Given the description of an element on the screen output the (x, y) to click on. 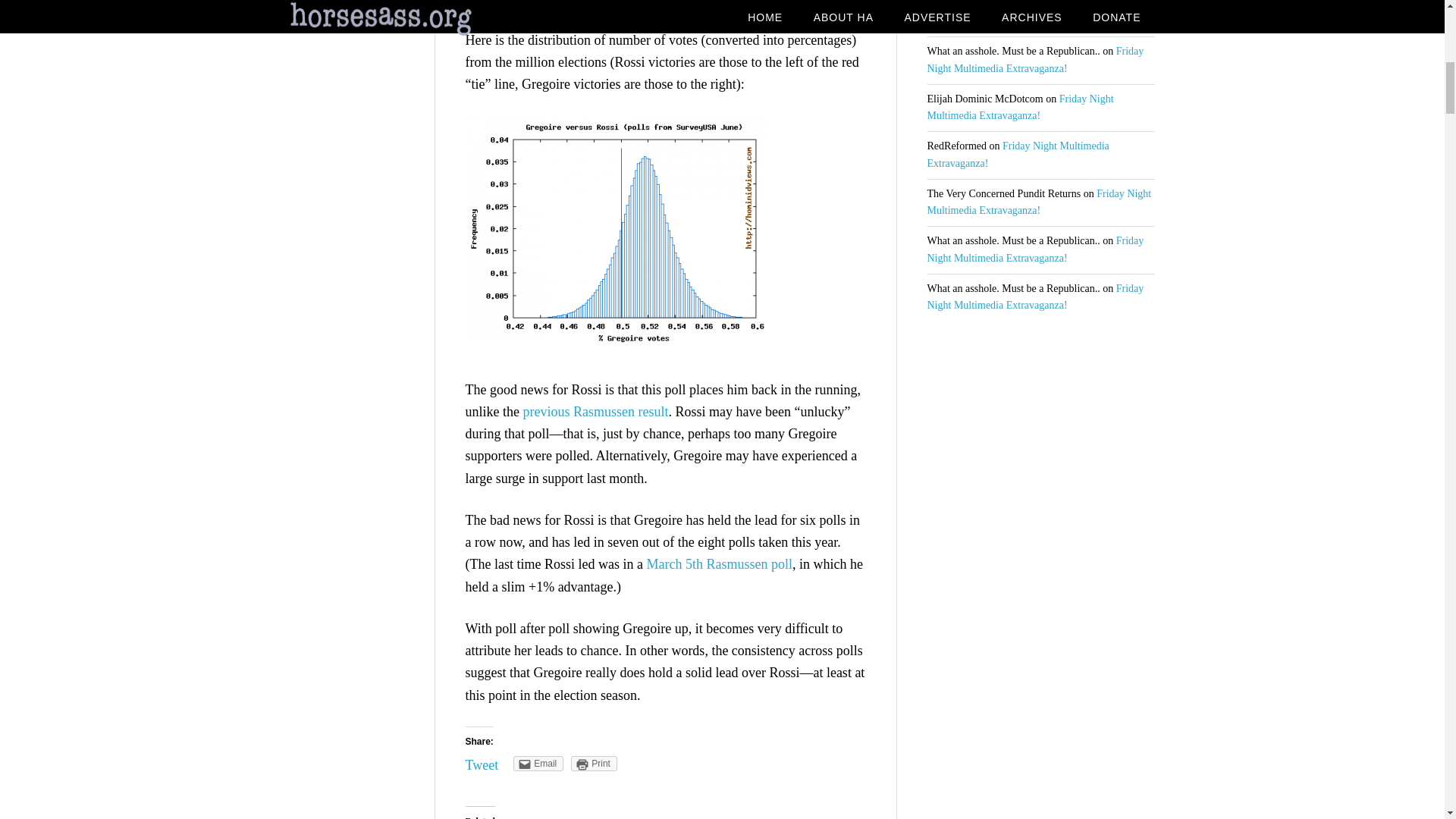
wagov11jun08 (616, 229)
Click to print (593, 763)
Click to email a link to a friend (538, 763)
March 5th Rasmussen poll (719, 563)
Print (593, 763)
Tweet (482, 765)
previous Rasmussen result (595, 411)
Email (538, 763)
